Given the description of an element on the screen output the (x, y) to click on. 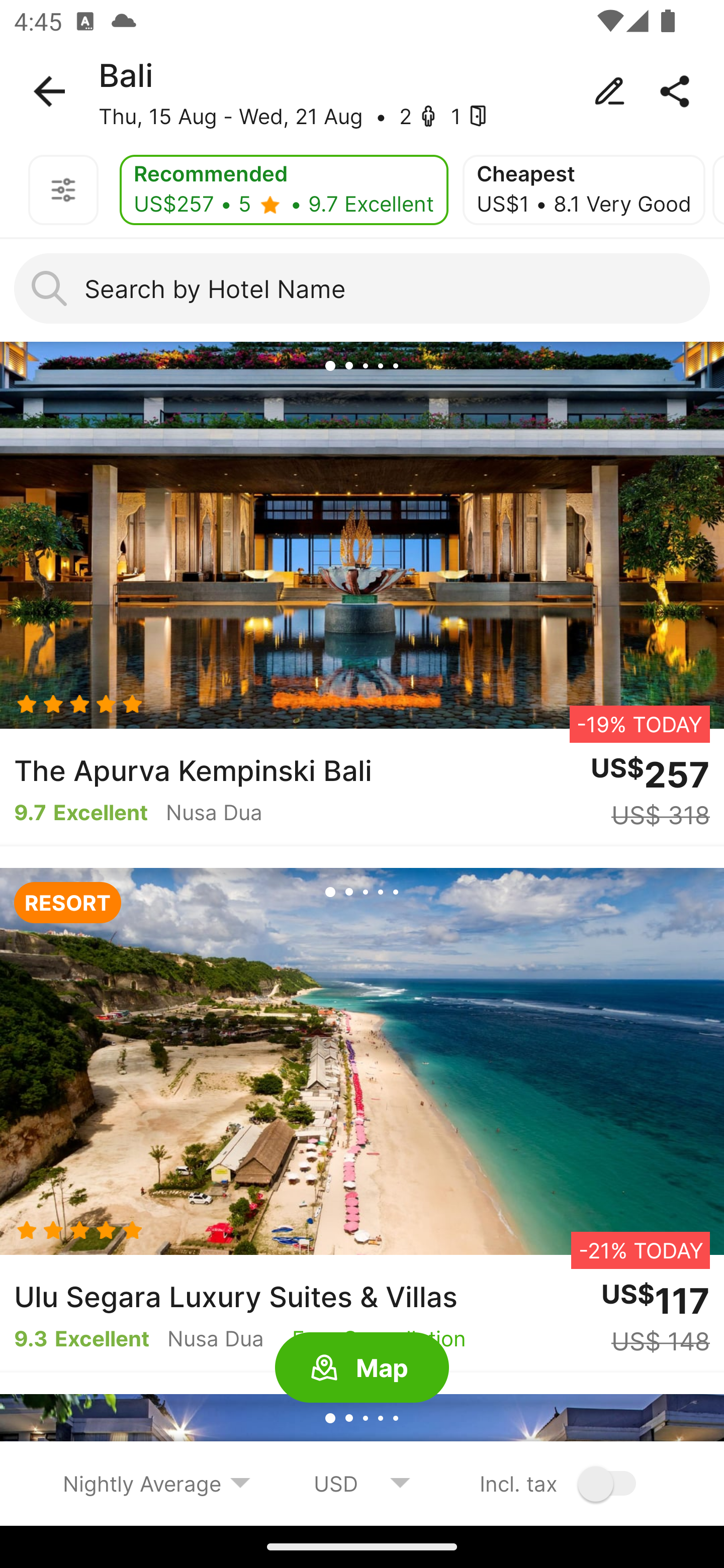
Bali Thu, 15 Aug - Wed, 21 Aug  •  2 -  1 - (361, 91)
Recommended  US$257  • 5 - • 9.7 Excellent (283, 190)
Cheapest US$1  • 8.1 Very Good (583, 190)
Search by Hotel Name  (361, 288)
Map  (361, 1367)
Nightly Average (156, 1482)
USD (361, 1482)
